Given the description of an element on the screen output the (x, y) to click on. 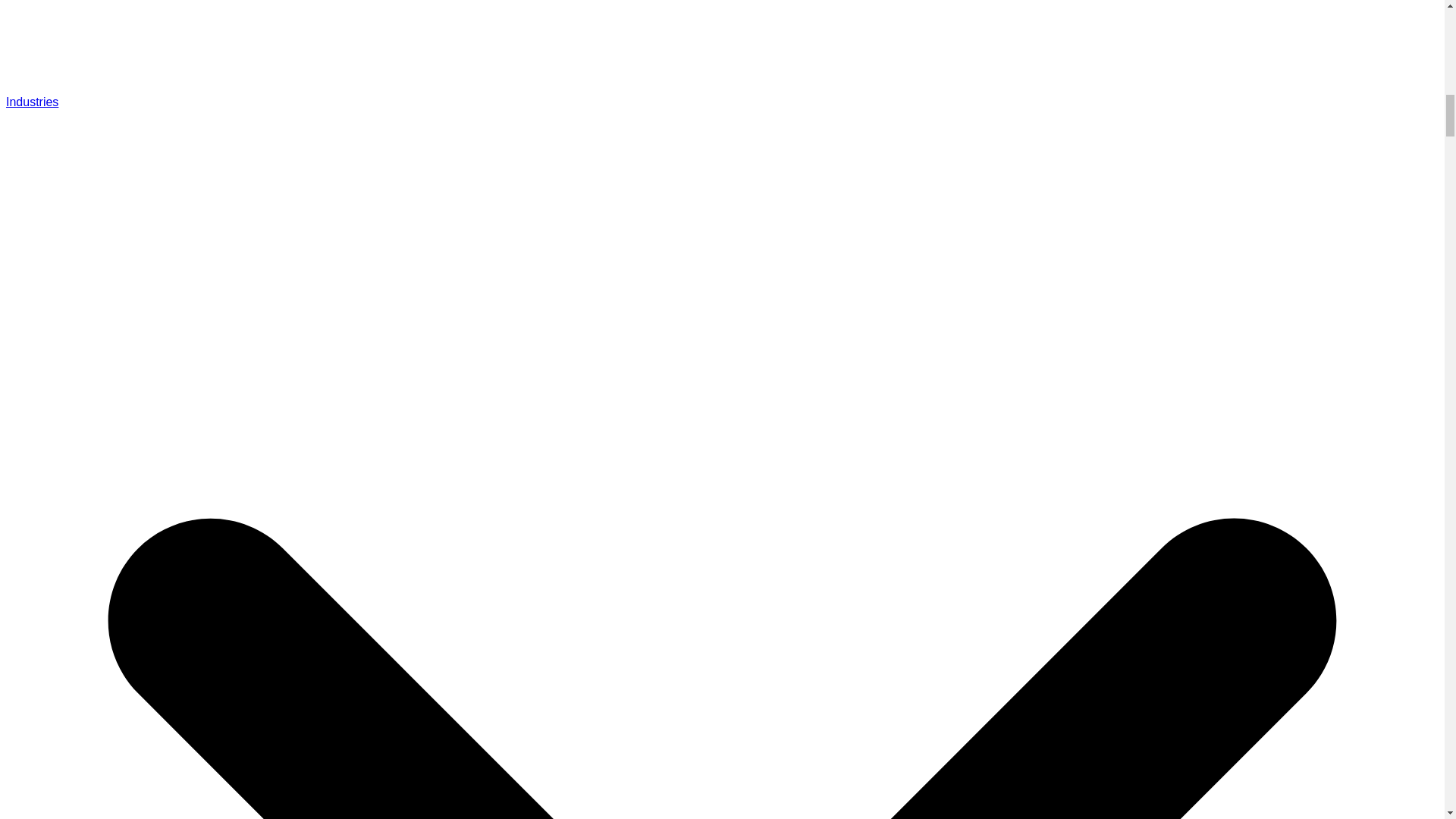
Industries (31, 101)
